Given the description of an element on the screen output the (x, y) to click on. 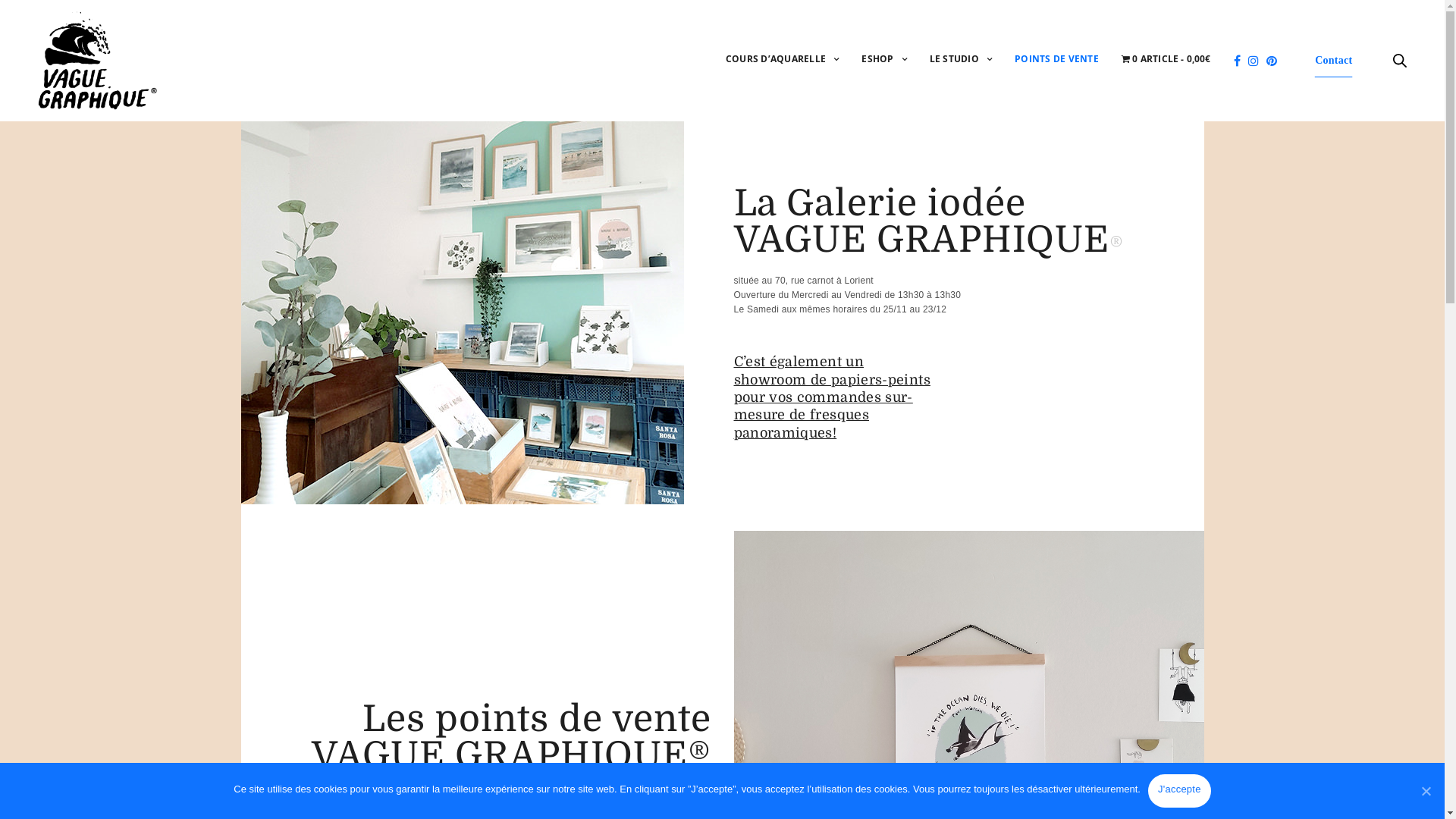
Search Element type: text (44, 16)
Sitemap Element type: text (756, 699)
Contact Element type: text (1333, 60)
LE STUDIO Element type: text (960, 60)
POINTS DE VENTE Element type: text (1056, 60)
Vague Graphique Element type: hover (96, 60)
J'accepte Element type: text (1179, 790)
CGV du Eshop Element type: text (775, 719)
ESHOP Element type: text (883, 60)
hello@vaguegraphique.bzh Element type: text (810, 602)
